Given the description of an element on the screen output the (x, y) to click on. 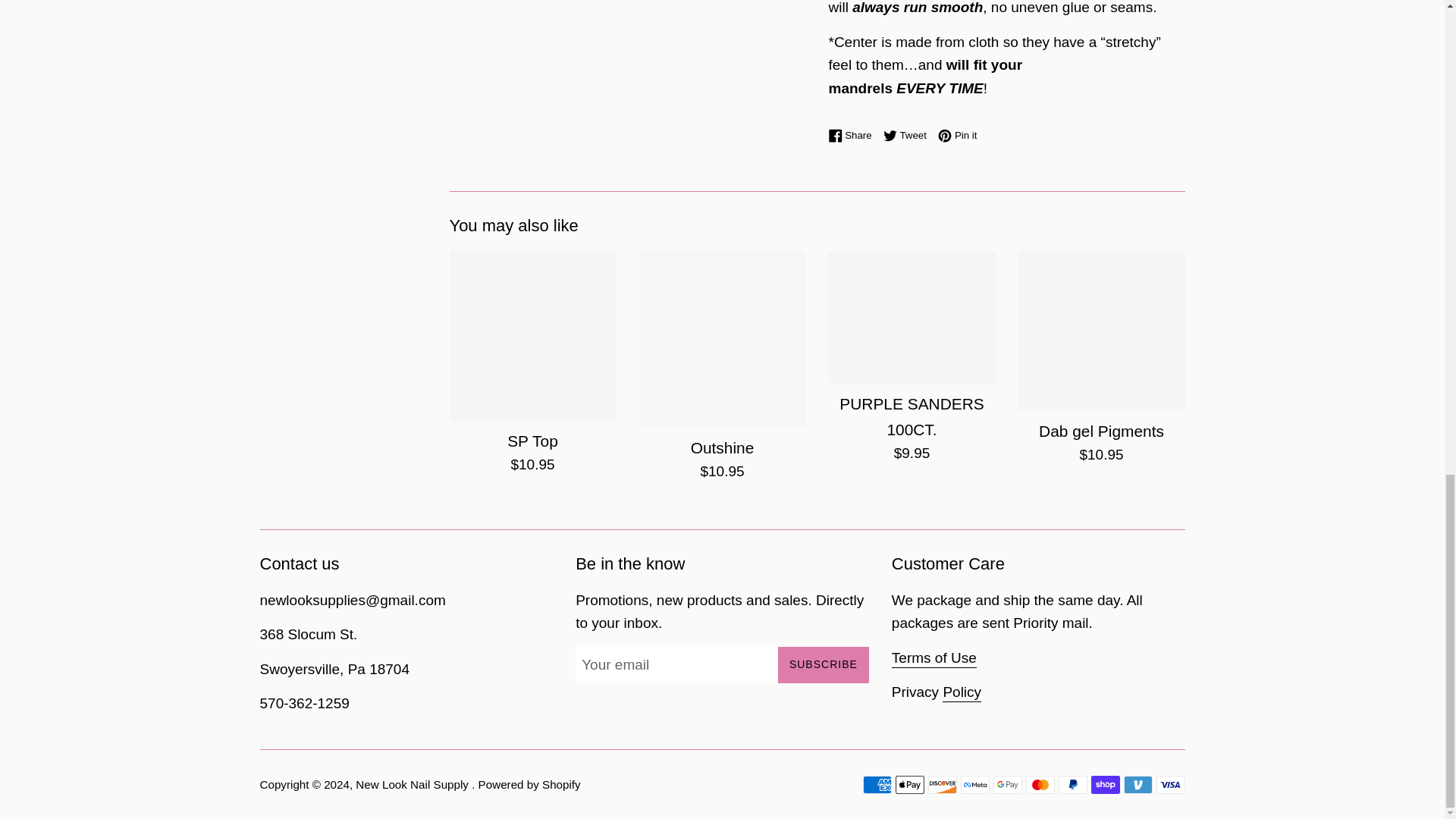
Outshine (722, 338)
Terms of Use (933, 659)
Privacy Policy (908, 135)
Google Pay (853, 135)
Visa (961, 692)
Tweet on Twitter (1007, 784)
Dab gel Pigments (1170, 784)
PayPal (908, 135)
